Given the description of an element on the screen output the (x, y) to click on. 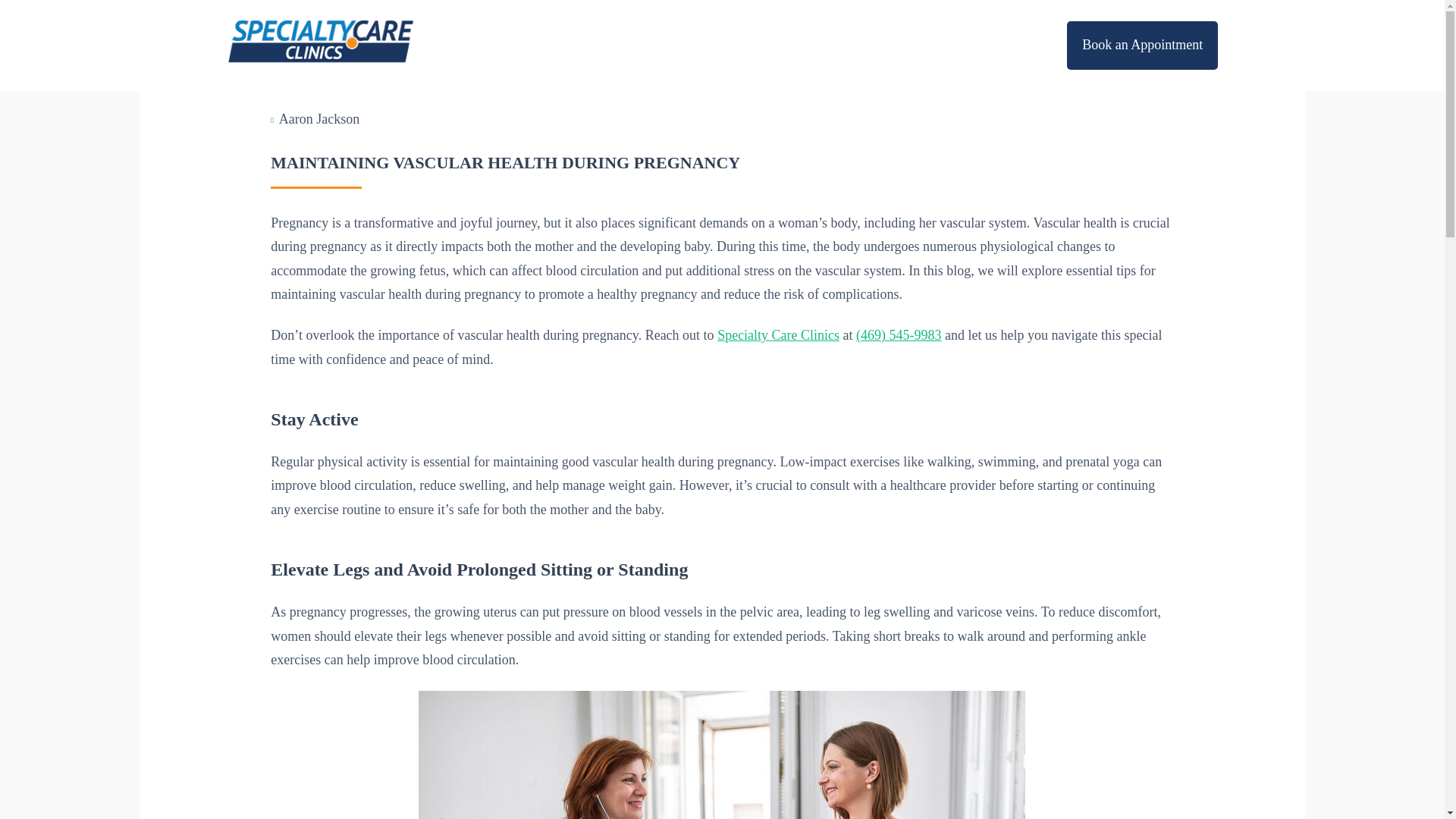
Specialty Care Clinics (778, 335)
Aaron Jackson (319, 118)
Book an Appointment (1142, 45)
